Given the description of an element on the screen output the (x, y) to click on. 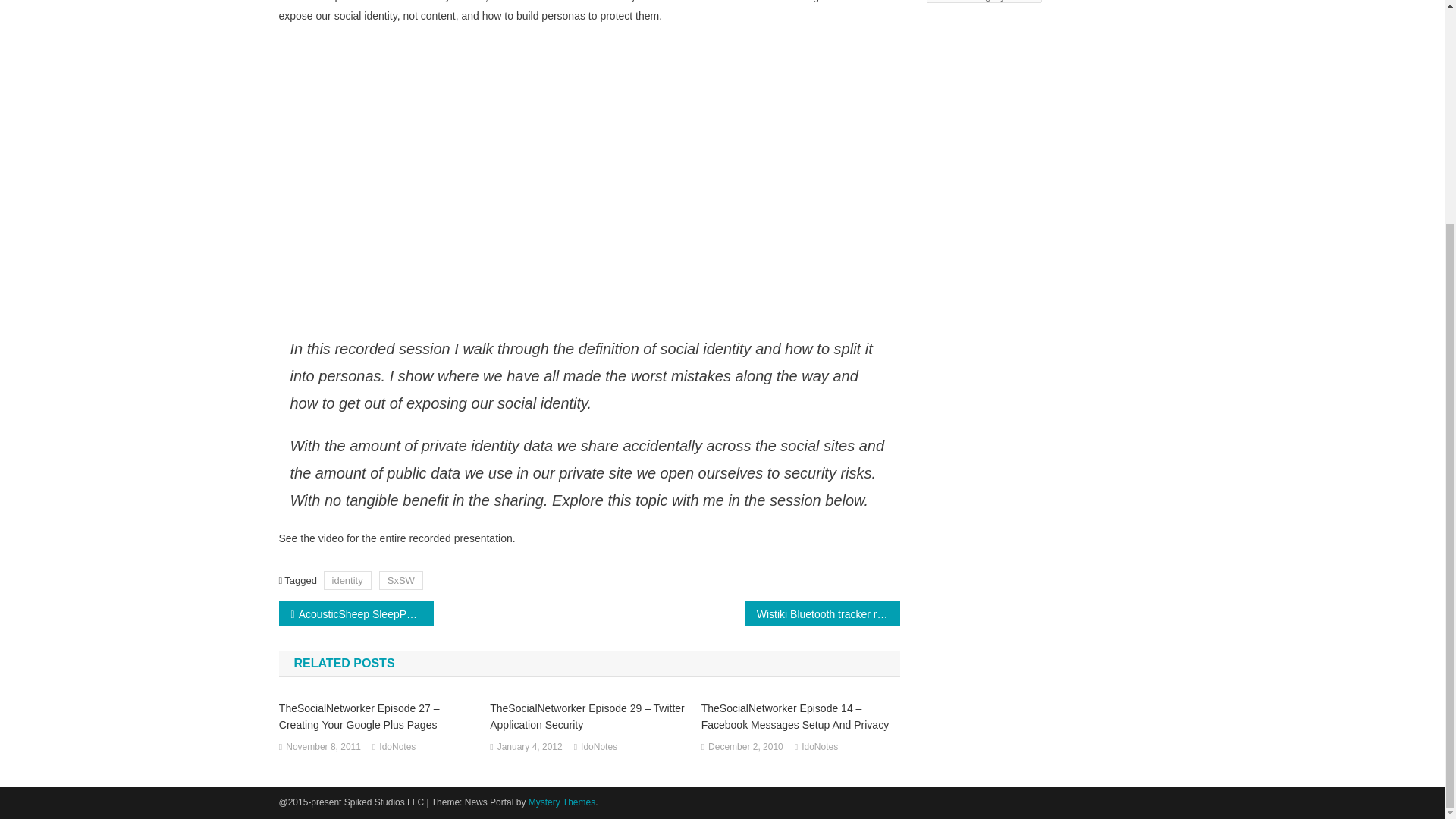
December 2, 2010 (745, 747)
SxSW (400, 579)
IdoNotes (598, 747)
January 4, 2012 (529, 747)
identity (347, 579)
Mystery Themes (561, 801)
IdoNotes (820, 747)
November 8, 2011 (323, 747)
IdoNotes (396, 747)
